Given the description of an element on the screen output the (x, y) to click on. 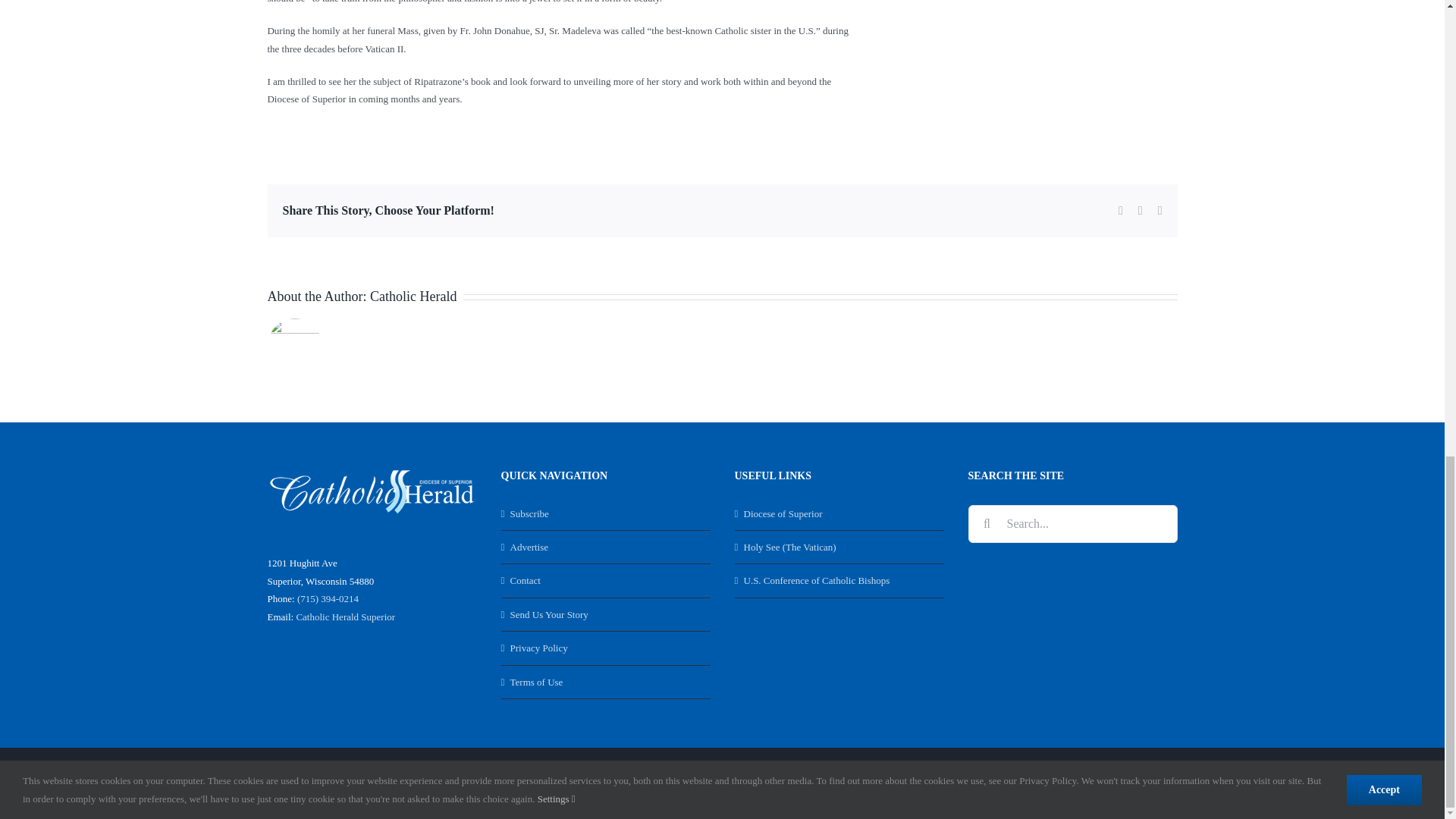
Instagram (1163, 783)
Posts by Catholic Herald (413, 296)
X (1096, 783)
YouTube (1130, 783)
Facebook (1064, 783)
